Given the description of an element on the screen output the (x, y) to click on. 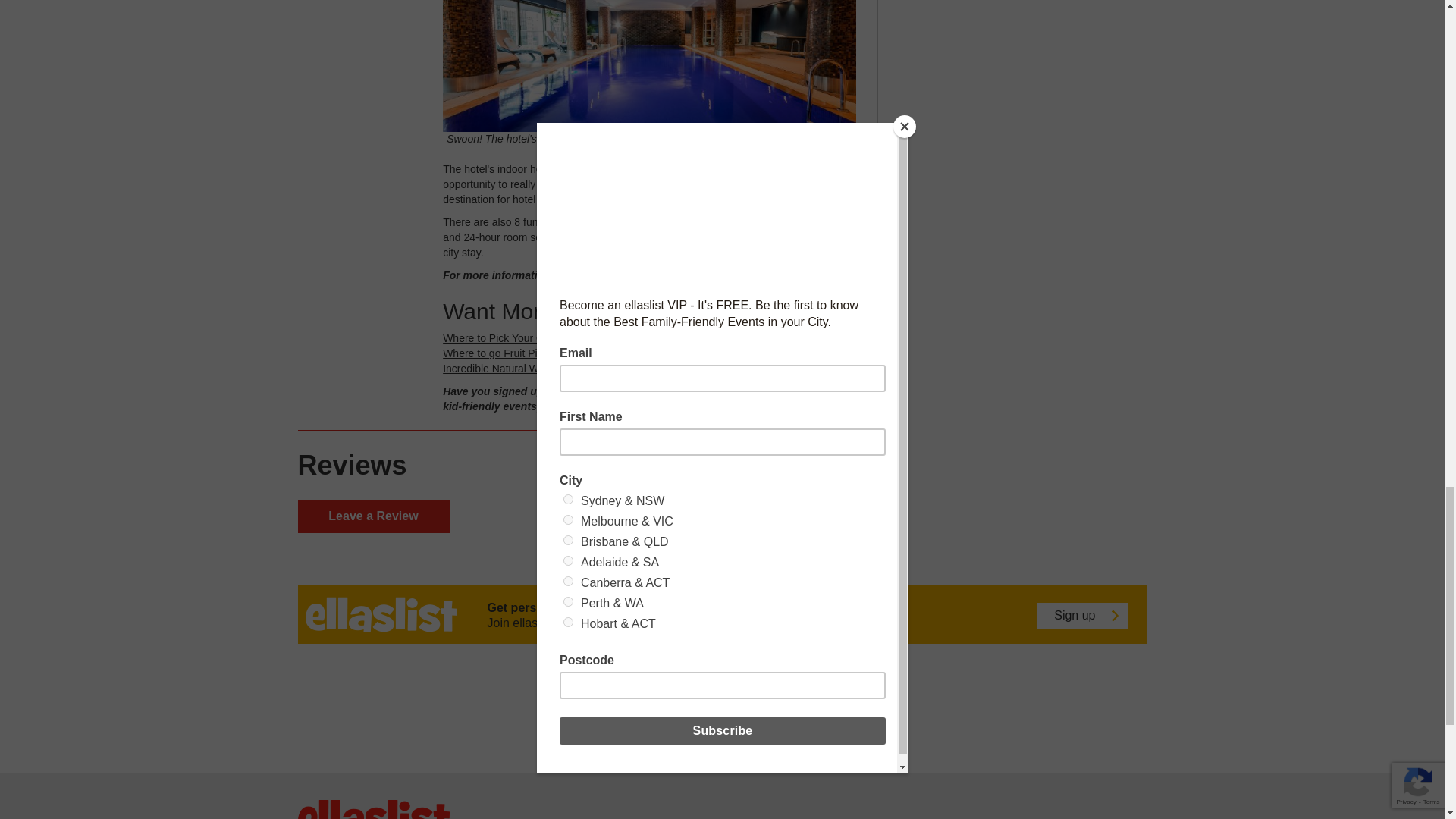
Amora Hotel Jamison Sydney (705, 275)
Incredible Natural Wonders Near Sydney (538, 368)
Join ellaslist (677, 390)
Leave a Review (372, 516)
Leave a Review (372, 516)
Where to Pick Your Own Sunflowers (527, 337)
